Given the description of an element on the screen output the (x, y) to click on. 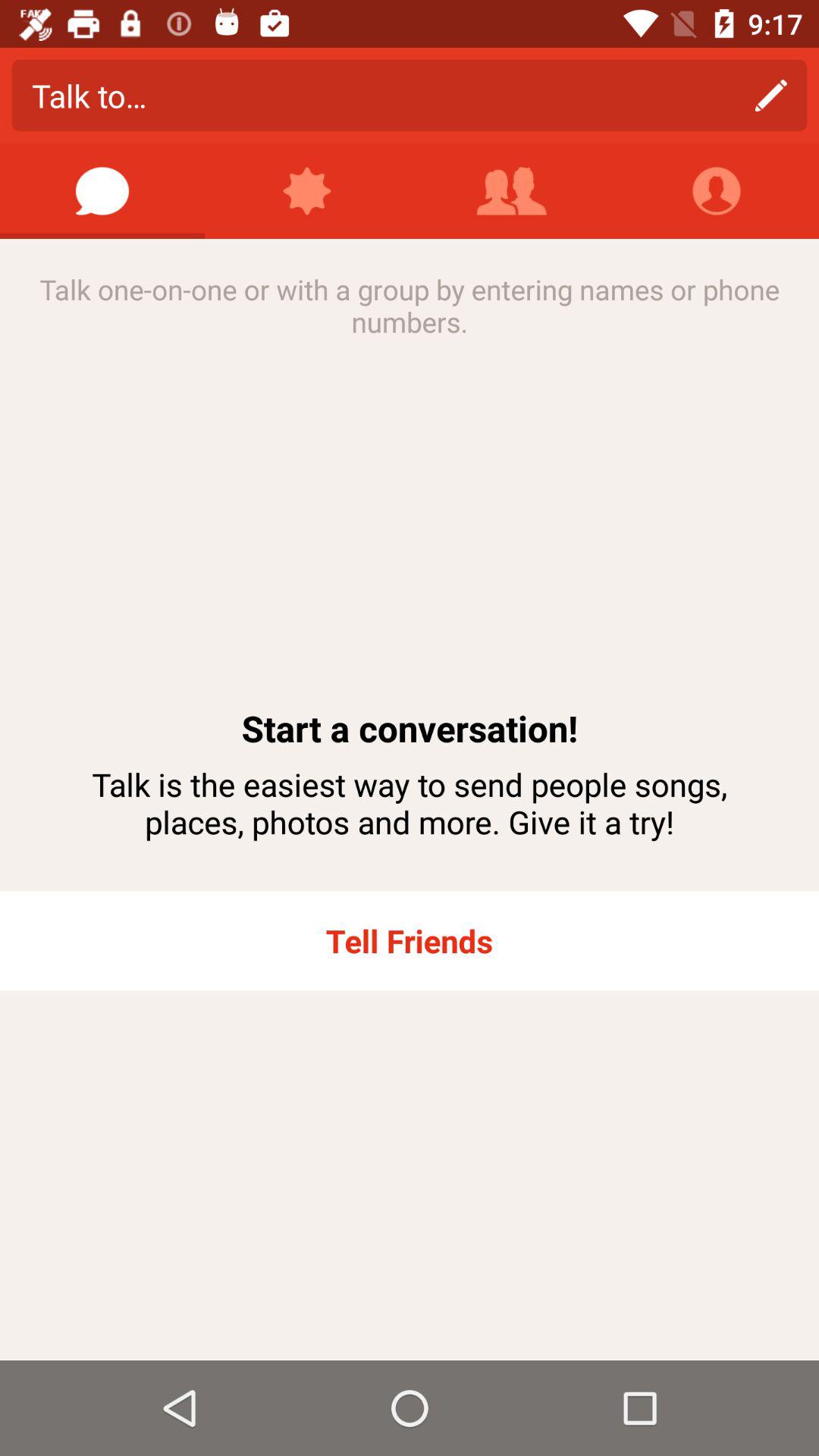
swipe until tell friends icon (409, 940)
